Given the description of an element on the screen output the (x, y) to click on. 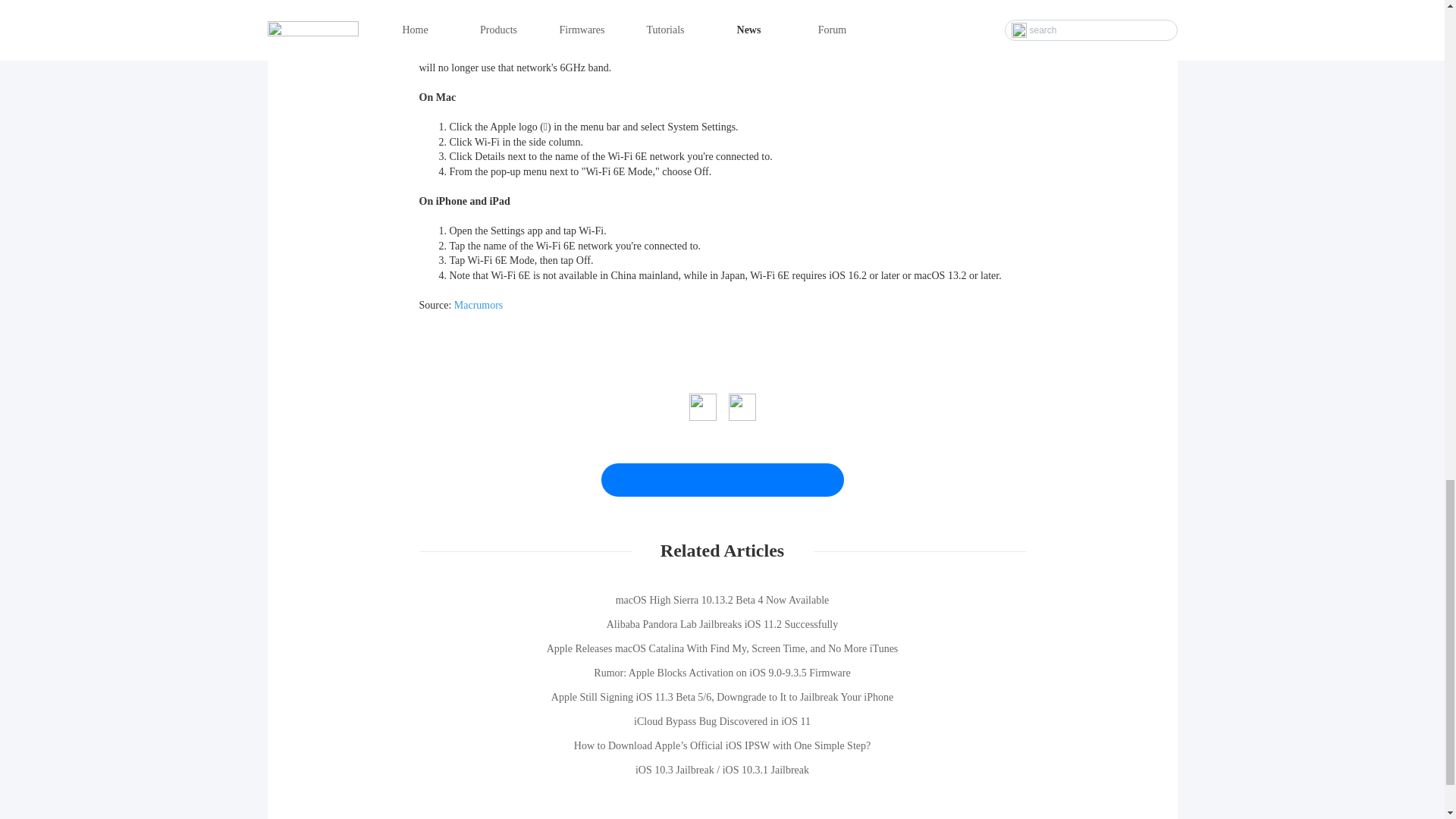
macOS High Sierra 10.13.2 Beta 4 Now Available (722, 600)
Macrumors (478, 305)
Rumor: Apple Blocks Activation on iOS 9.0-9.3.5 Firmware (722, 672)
iCloud Bypass Bug Discovered in iOS 11 (722, 721)
Alibaba Pandora Lab Jailbreaks iOS 11.2 Successfully (722, 624)
